Given the description of an element on the screen output the (x, y) to click on. 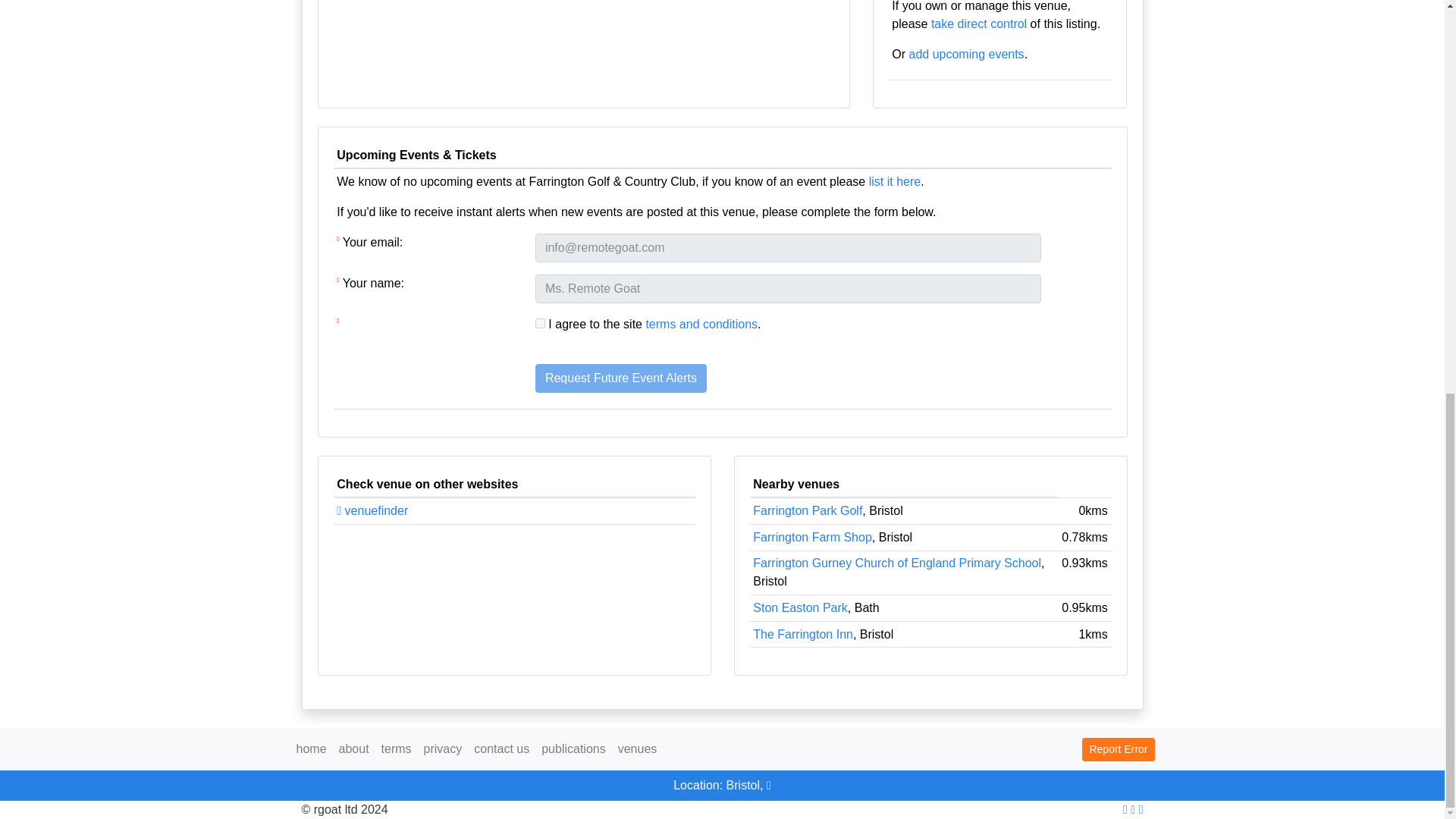
Farrington Gurney Church of England Primary School (896, 562)
Request Future Event Alerts (620, 378)
about (354, 748)
publications (573, 748)
add upcoming events (966, 53)
Farrington Park Golf (806, 510)
Report Error (1117, 749)
home (310, 748)
Ston Easton Park (799, 607)
1 (539, 323)
Farrington Farm Shop (812, 536)
list it here (894, 181)
privacy (442, 748)
list new event (966, 53)
Manage this venue (978, 23)
